Given the description of an element on the screen output the (x, y) to click on. 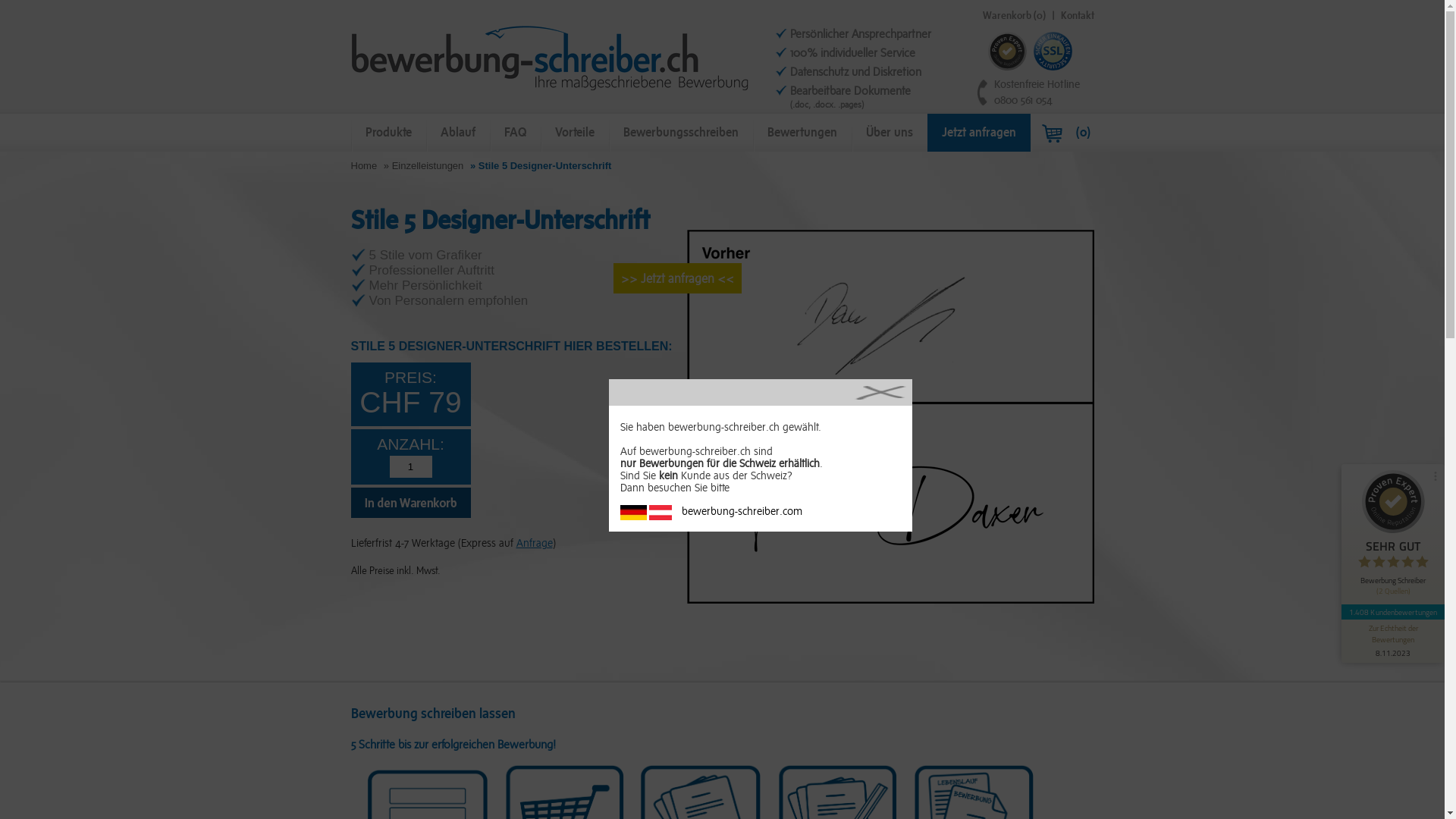
(0) Element type: text (1065, 132)
Proven Expert Element type: hover (1006, 50)
Bewerbung Schreiber Element type: hover (549, 57)
Bewerbungsschreiben Element type: text (680, 132)
Ablauf Element type: text (457, 132)
Produkte Element type: text (387, 132)
Bewertungen Element type: text (801, 132)
Blick aufs ProvenExpert-Profil werfen Element type: text (1330, 496)
In den Warenkorb Element type: hover (410, 502)
Zur Echtheit der
Bewertungen
8.11.2023 Element type: text (1392, 640)
In den Warenkorb Element type: hover (410, 514)
Jetzt anfragen Element type: text (977, 132)
Vorteile Element type: text (573, 132)
Anfrage Element type: text (533, 542)
Vorherige Kundenstimme Element type: hover (1430, 567)
FAQ Element type: text (514, 132)
Kontakt Element type: text (1076, 15)
Home Element type: text (363, 165)
>> Jetzt anfragen << Element type: text (676, 278)
bewerbung-schreiber.com Element type: text (760, 512)
Bewerbung Schreiber Element type: hover (549, 88)
(0) Element type: text (1038, 15)
